Given the description of an element on the screen output the (x, y) to click on. 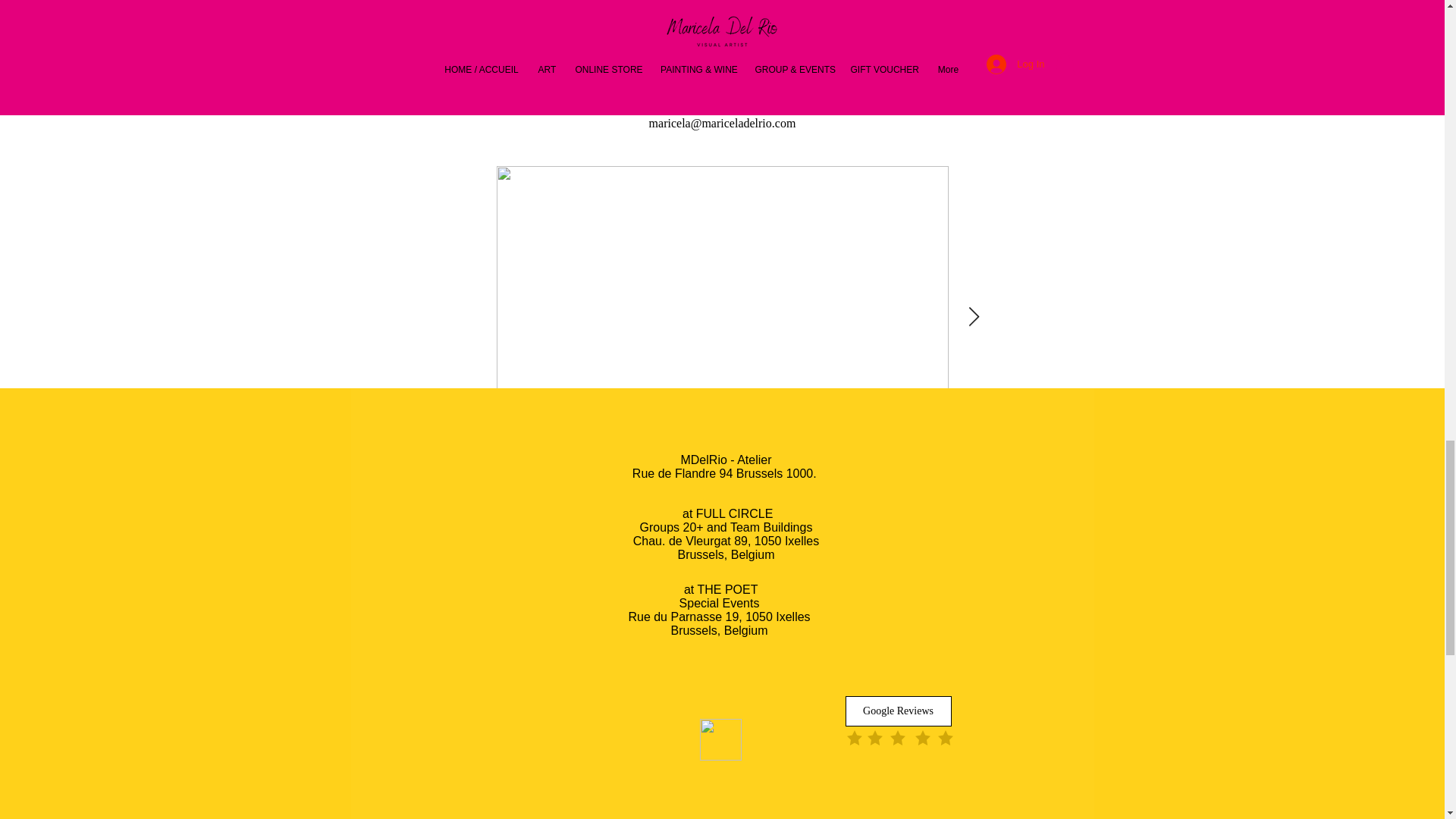
Send  (719, 739)
